Given the description of an element on the screen output the (x, y) to click on. 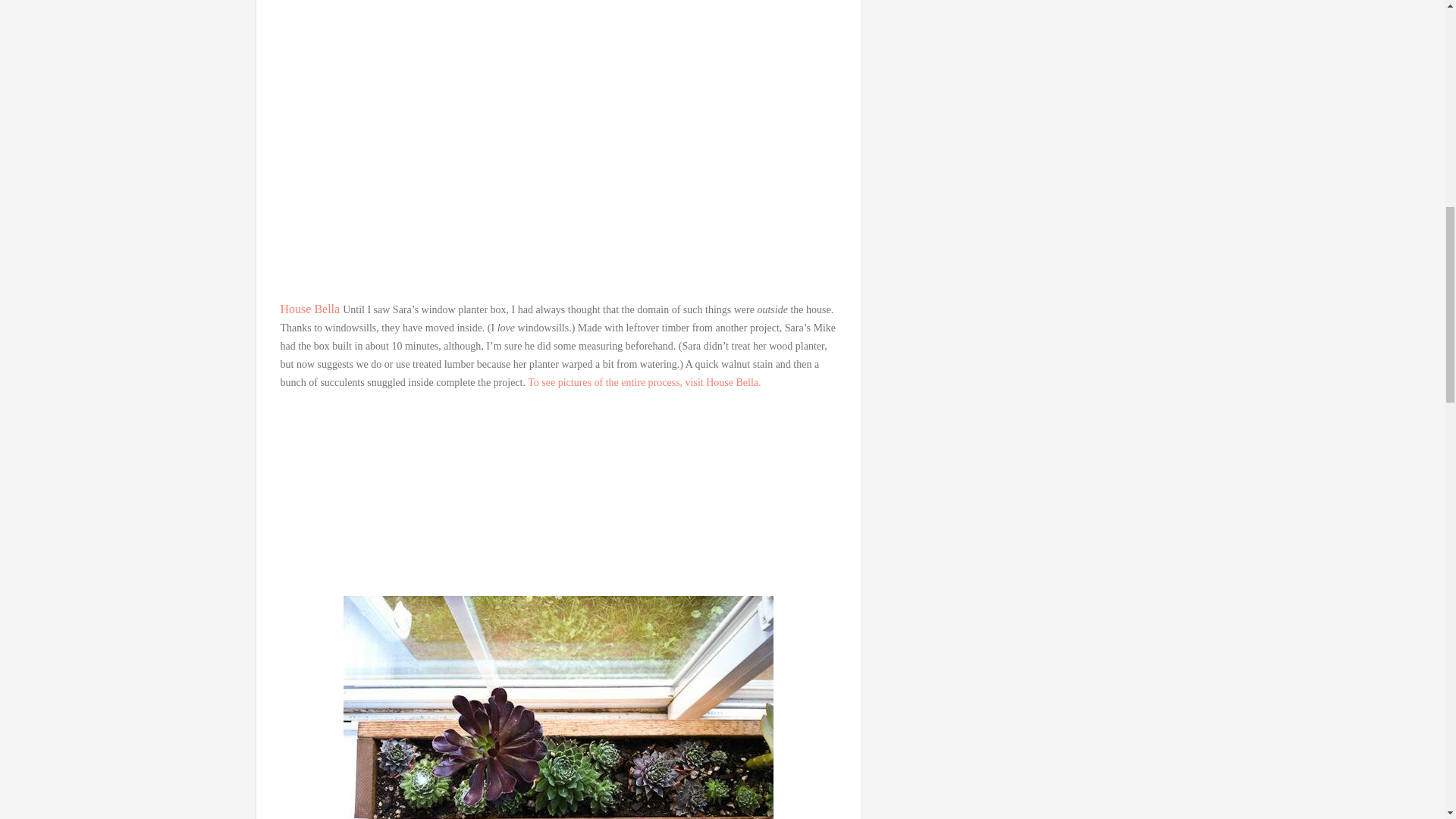
House Bella (312, 308)
To see pictures of the entire process, visit House Bella.  (644, 382)
